Given the description of an element on the screen output the (x, y) to click on. 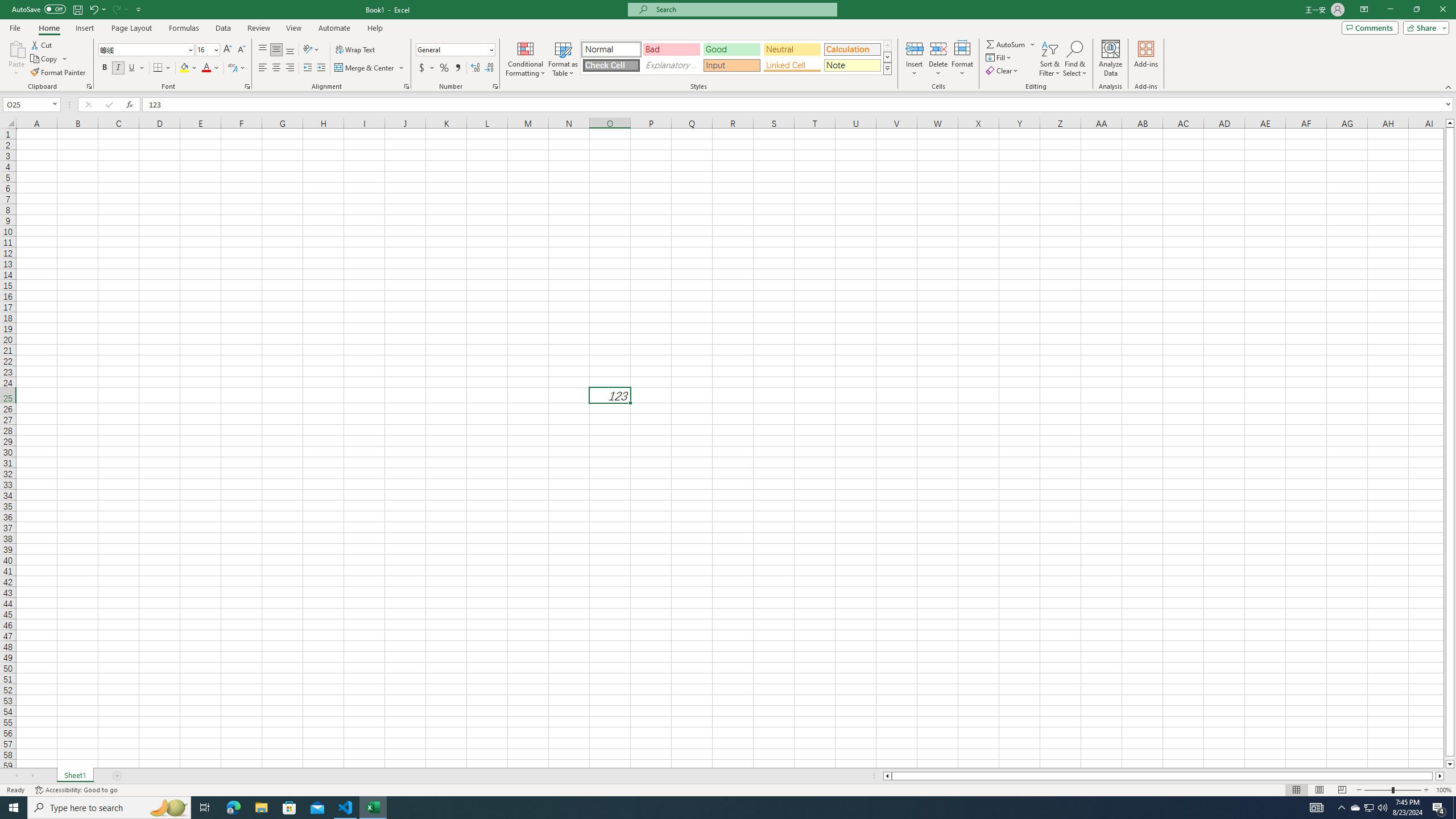
Zoom Out (1377, 790)
System (6, 6)
Delete (938, 58)
Undo (92, 9)
Align Left (262, 67)
Page Layout (1318, 790)
Delete Cells... (938, 48)
Analyze Data (1110, 58)
Accounting Number Format (422, 67)
Help (374, 28)
Normal (611, 49)
Bottom Border (157, 67)
Font Color (210, 67)
Customize Quick Access Toolbar (139, 9)
Show Phonetic Field (231, 67)
